Given the description of an element on the screen output the (x, y) to click on. 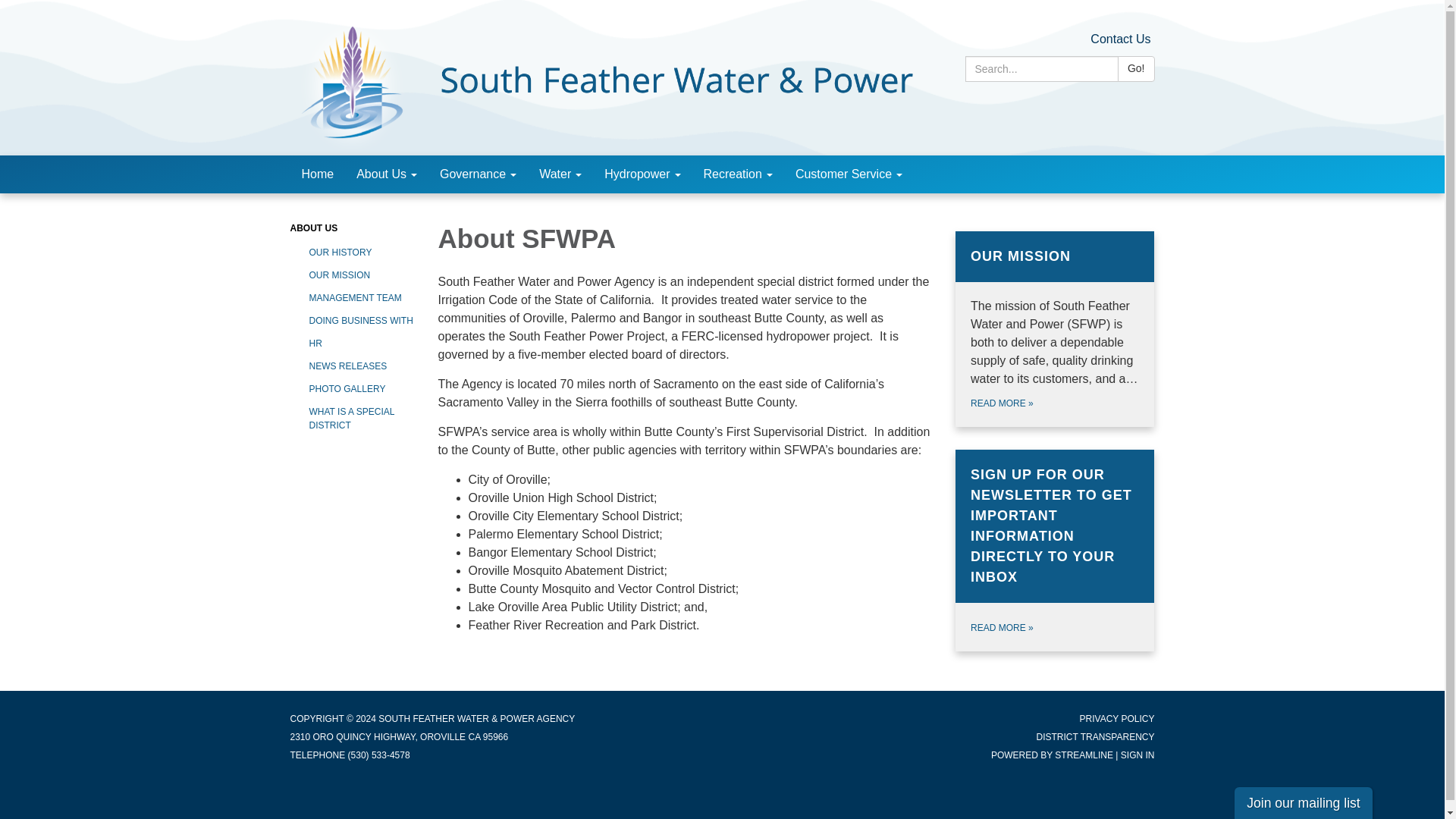
Streamline: Technology for Special Districts (1083, 755)
Hydropower (641, 174)
Water (559, 174)
Contact Us (1119, 38)
Special District Transparency Report (1094, 737)
Go! (1136, 68)
Governance (477, 174)
About Us (386, 174)
Home (317, 174)
